Given the description of an element on the screen output the (x, y) to click on. 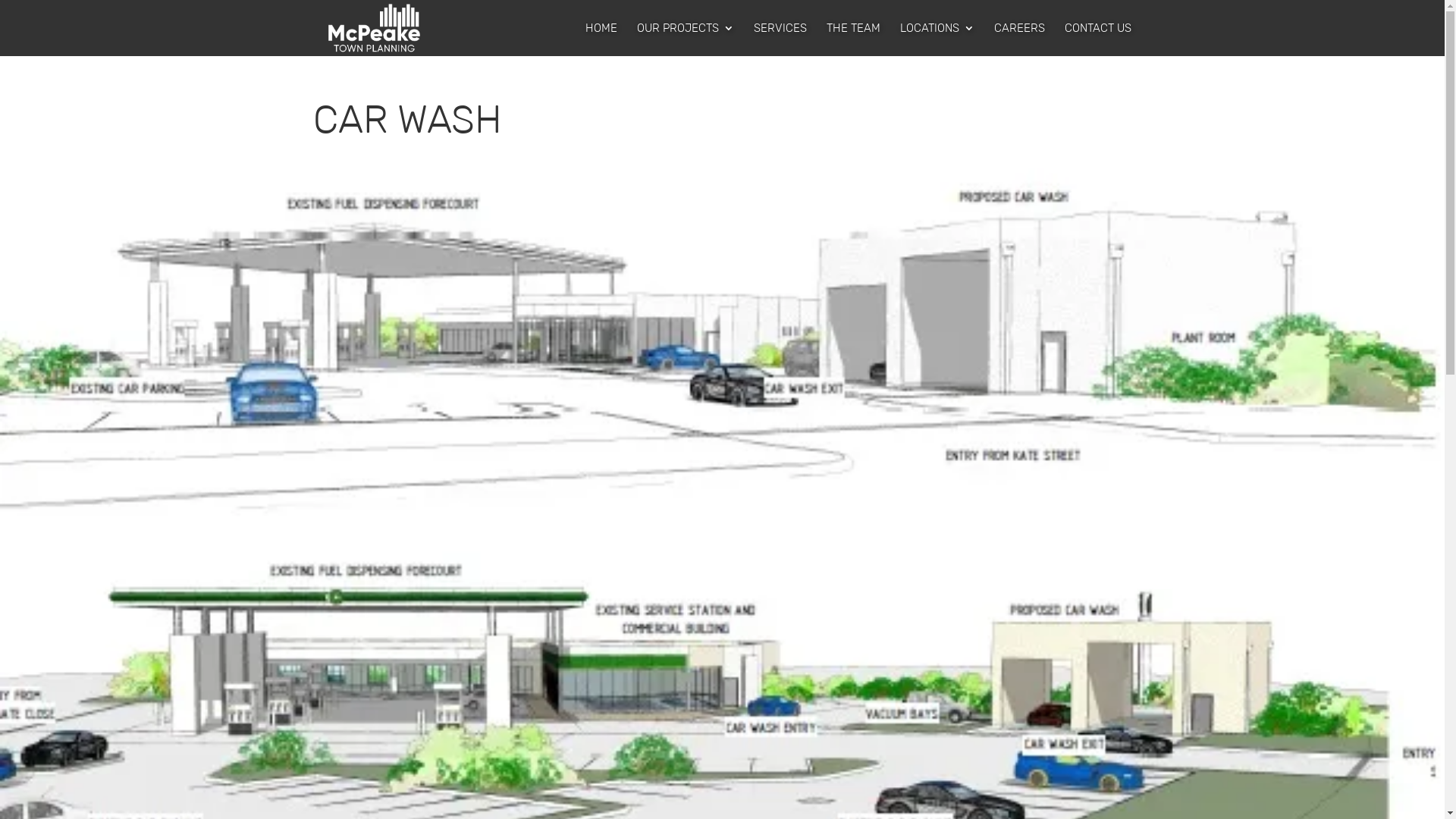
CAREERS Element type: text (1018, 39)
LOCATIONS Element type: text (936, 39)
THE TEAM Element type: text (853, 39)
CONTACT US Element type: text (1097, 39)
SERVICES Element type: text (779, 39)
HOME Element type: text (601, 39)
OUR PROJECTS Element type: text (685, 39)
